Given the description of an element on the screen output the (x, y) to click on. 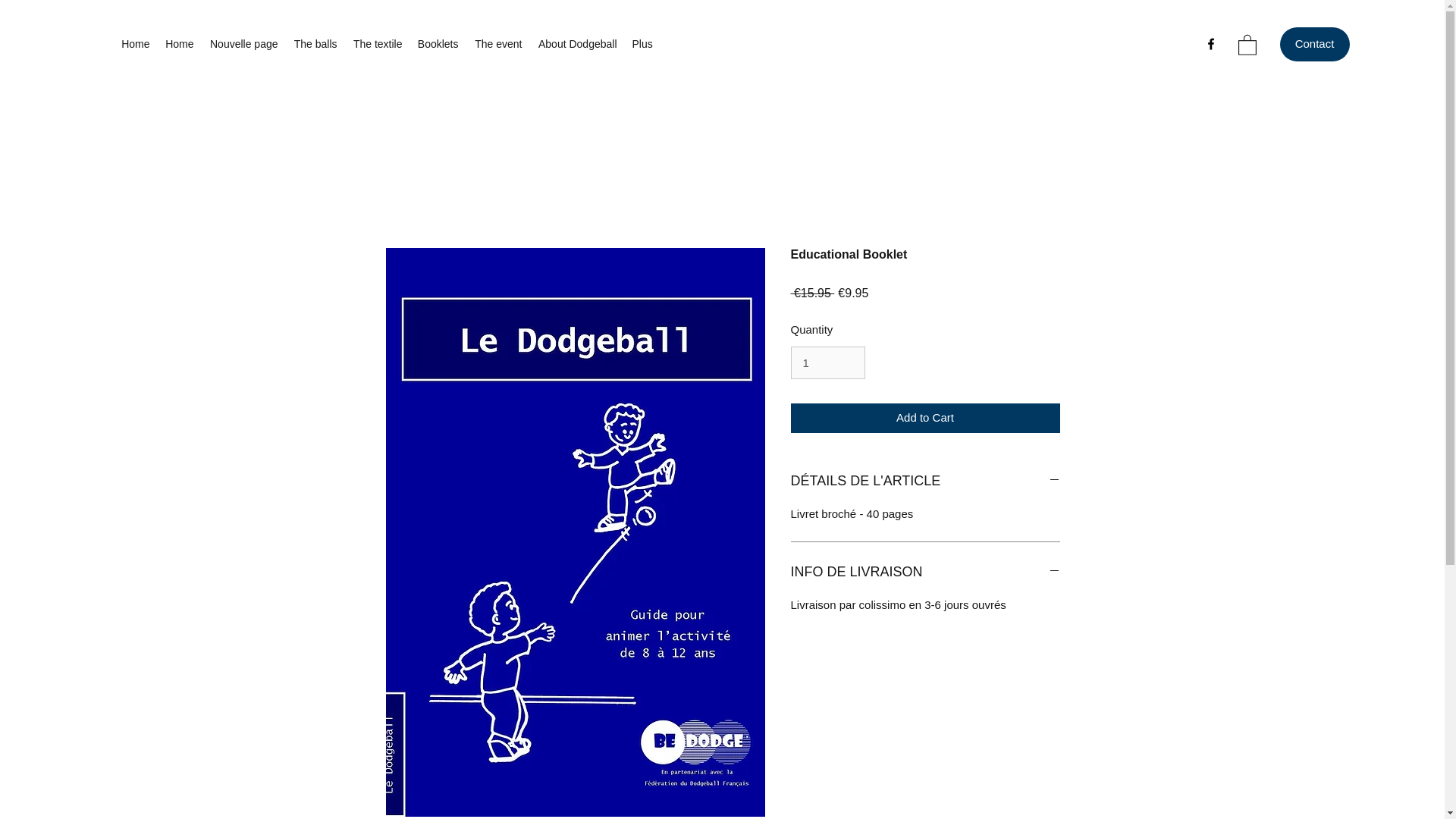
About Dodgeball (576, 44)
The event (497, 44)
Nouvelle page (243, 44)
Add to Cart (924, 418)
Contact (1314, 44)
Home (179, 44)
Booklets (437, 44)
1 (827, 363)
INFO DE LIVRAISON (924, 572)
Home (135, 44)
